Given the description of an element on the screen output the (x, y) to click on. 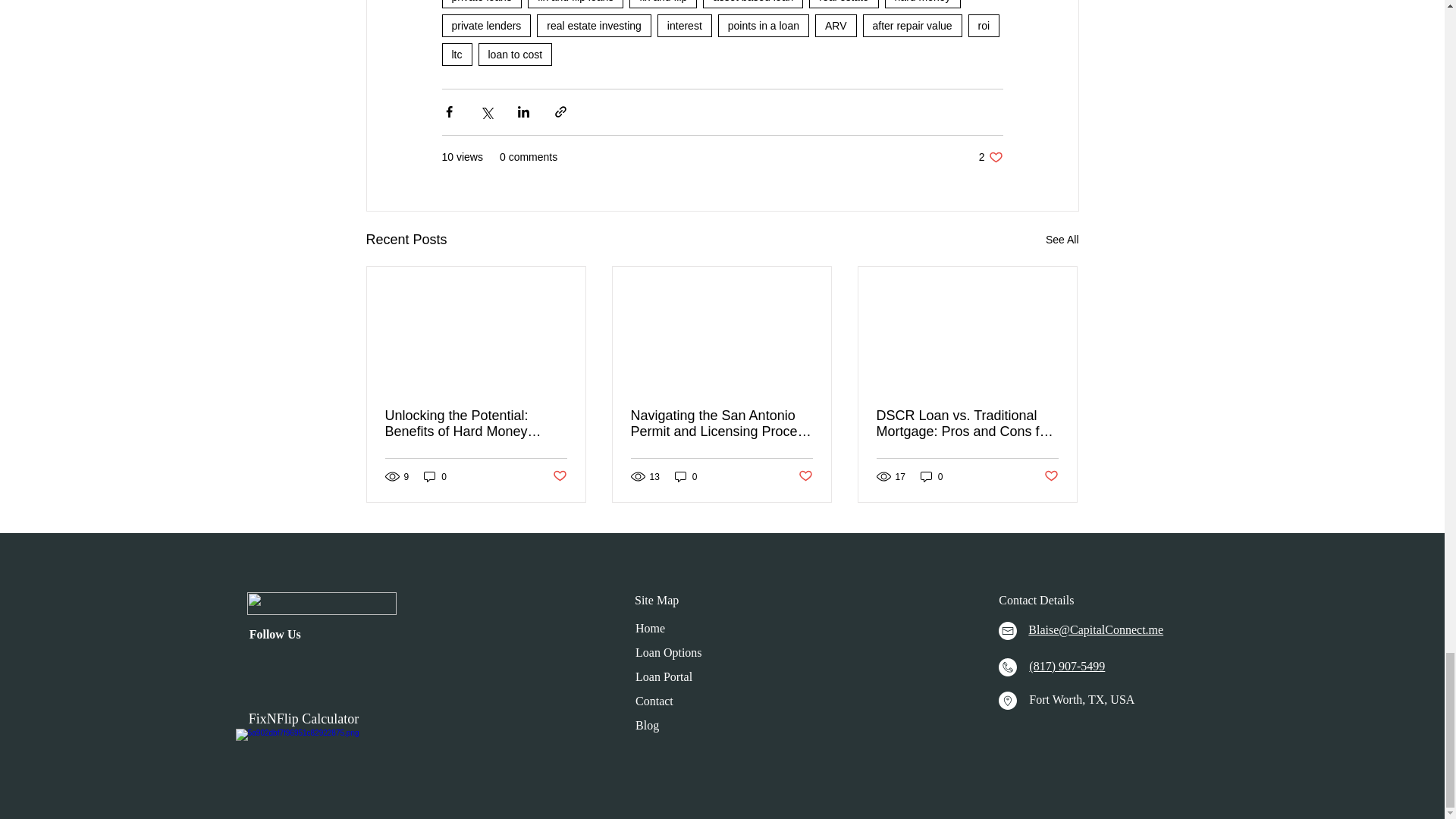
fix and flip (662, 4)
0 (990, 156)
asset based loan (435, 476)
Blog (753, 4)
loan to cost (646, 725)
Post not marked as liked (514, 54)
after repair value (804, 476)
Contact (912, 25)
Loan Options (653, 700)
fix and flip loans (667, 652)
See All (575, 4)
ltc (1061, 239)
roi (456, 54)
